Given the description of an element on the screen output the (x, y) to click on. 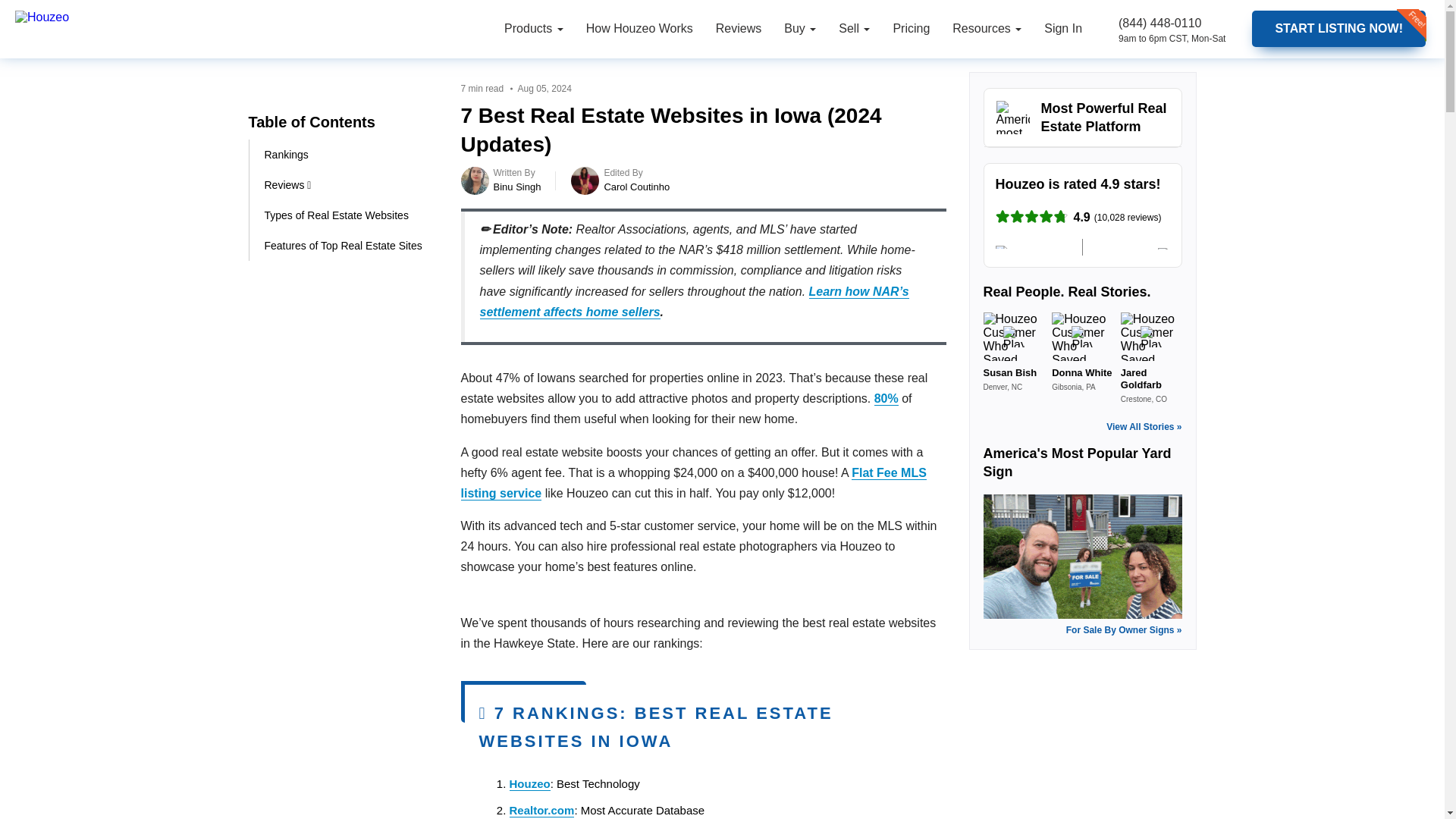
Sign In (1062, 28)
Houzeo (529, 784)
Products (534, 28)
Realtor.com (542, 810)
Buy (800, 28)
Pricing (910, 28)
Features of Top Real Estate Sites (347, 245)
Types of Real Estate Websites (347, 214)
How Houzeo Works (639, 28)
Sell (853, 28)
